Given the description of an element on the screen output the (x, y) to click on. 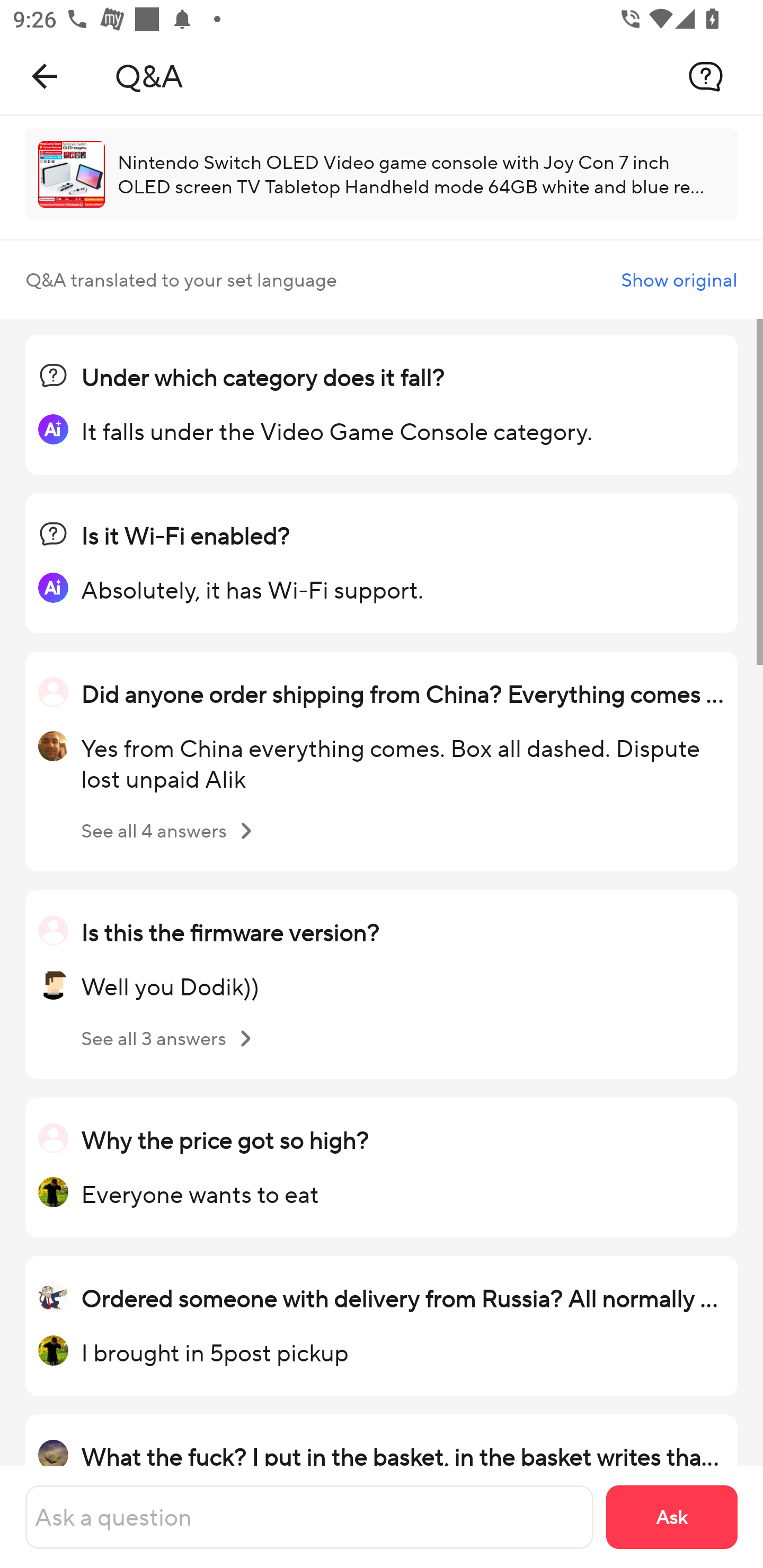
Navigate up (44, 75)
Show original (679, 279)
Under which category does it fall? (262, 377)
It falls under the Video Game Console category. (336, 430)
Is it Wi-Fi enabled? (184, 536)
Absolutely, it has Wi-Fi support. (252, 590)
Is this the firmware version? (229, 932)
Well you Dodik)) (169, 987)
Why the price got so high? Everyone wants to eat (381, 1176)
Why the price got so high? (224, 1140)
Everyone wants to eat (199, 1194)
I brought in 5post pickup (214, 1352)
Ask a question (309, 1516)
Ask (671, 1516)
